Given the description of an element on the screen output the (x, y) to click on. 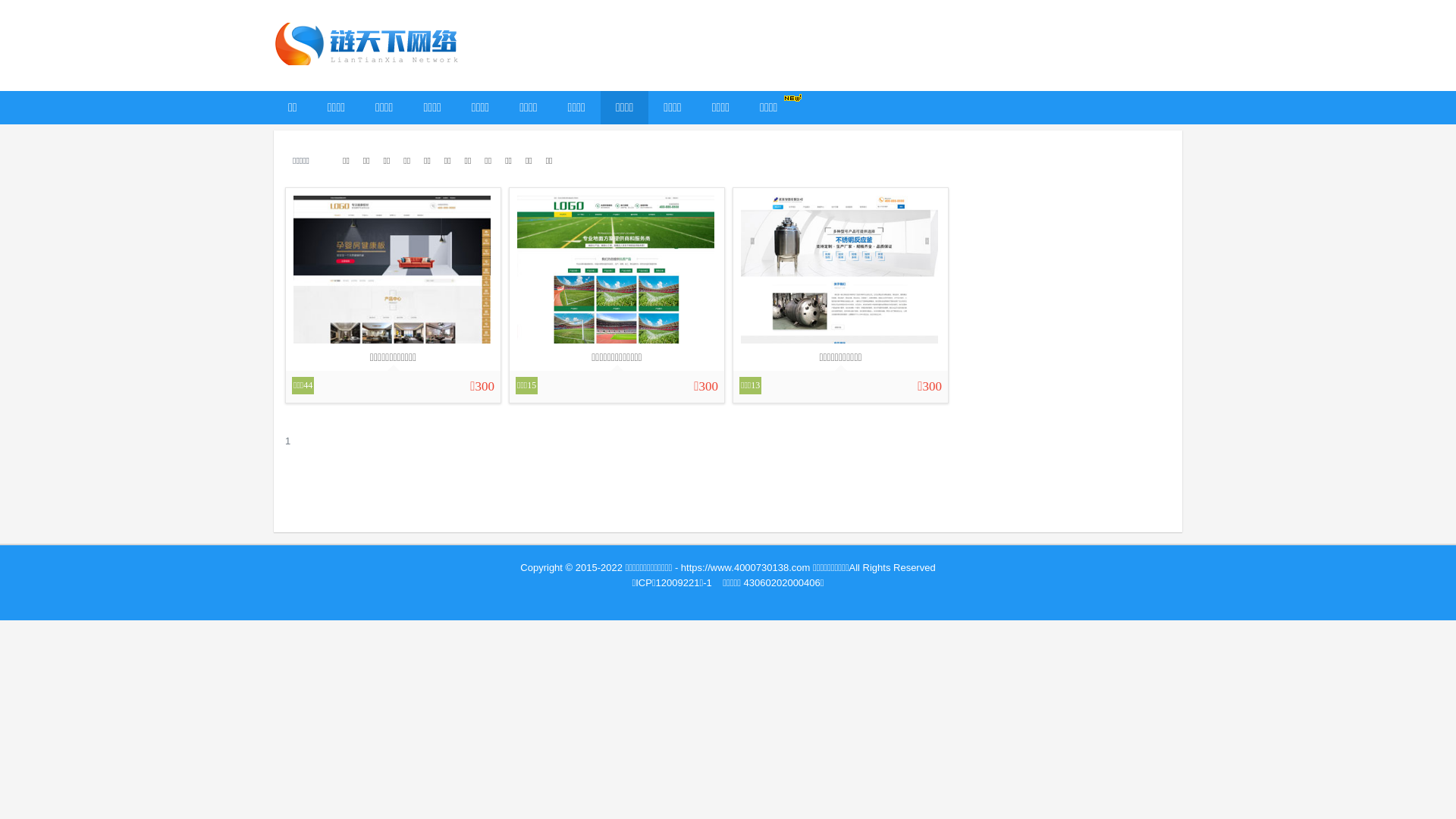
1 Element type: text (287, 440)
https://www.4000730138.com Element type: text (745, 567)
